Given the description of an element on the screen output the (x, y) to click on. 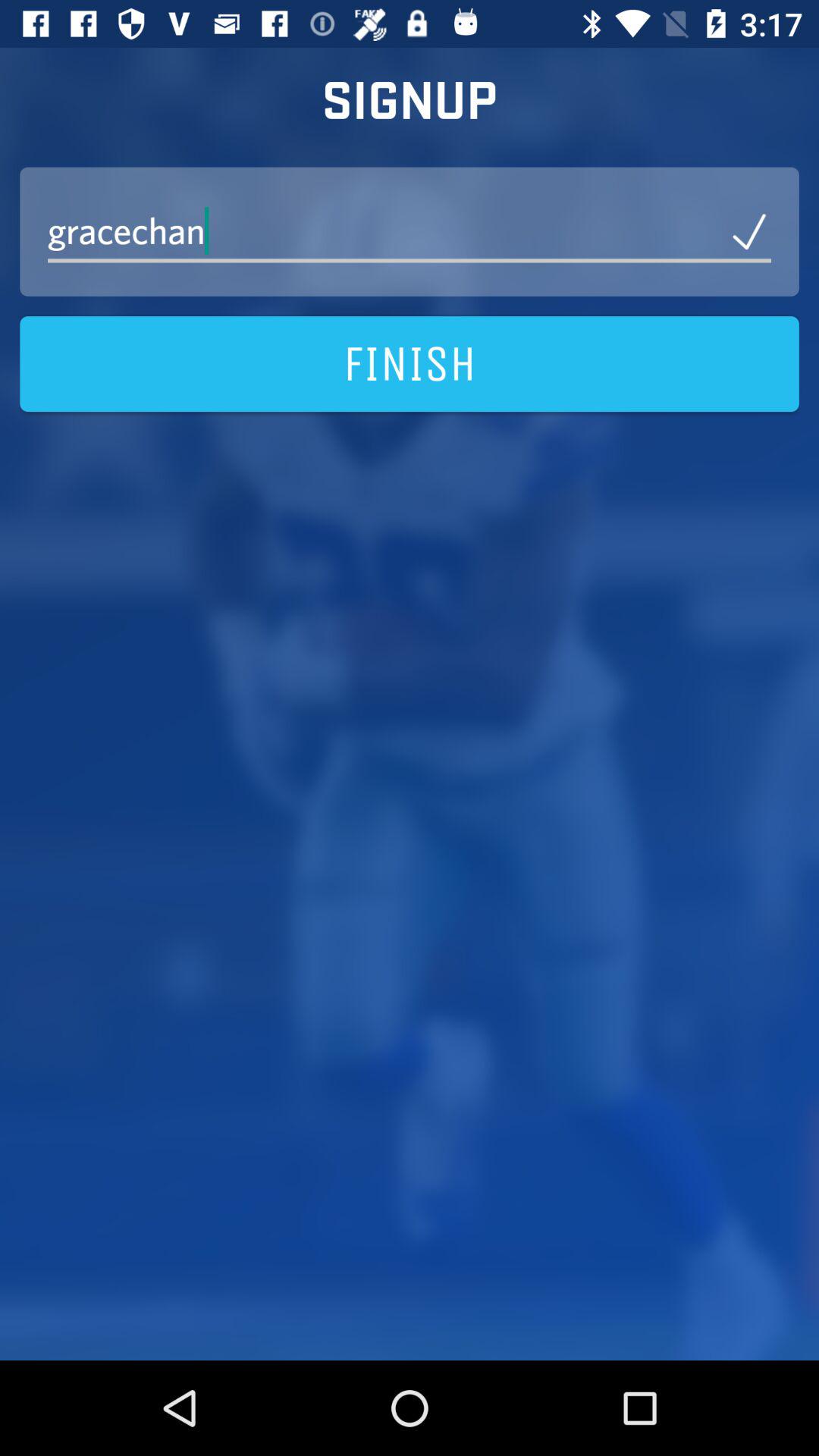
turn off the icon below the gracechan item (409, 363)
